Given the description of an element on the screen output the (x, y) to click on. 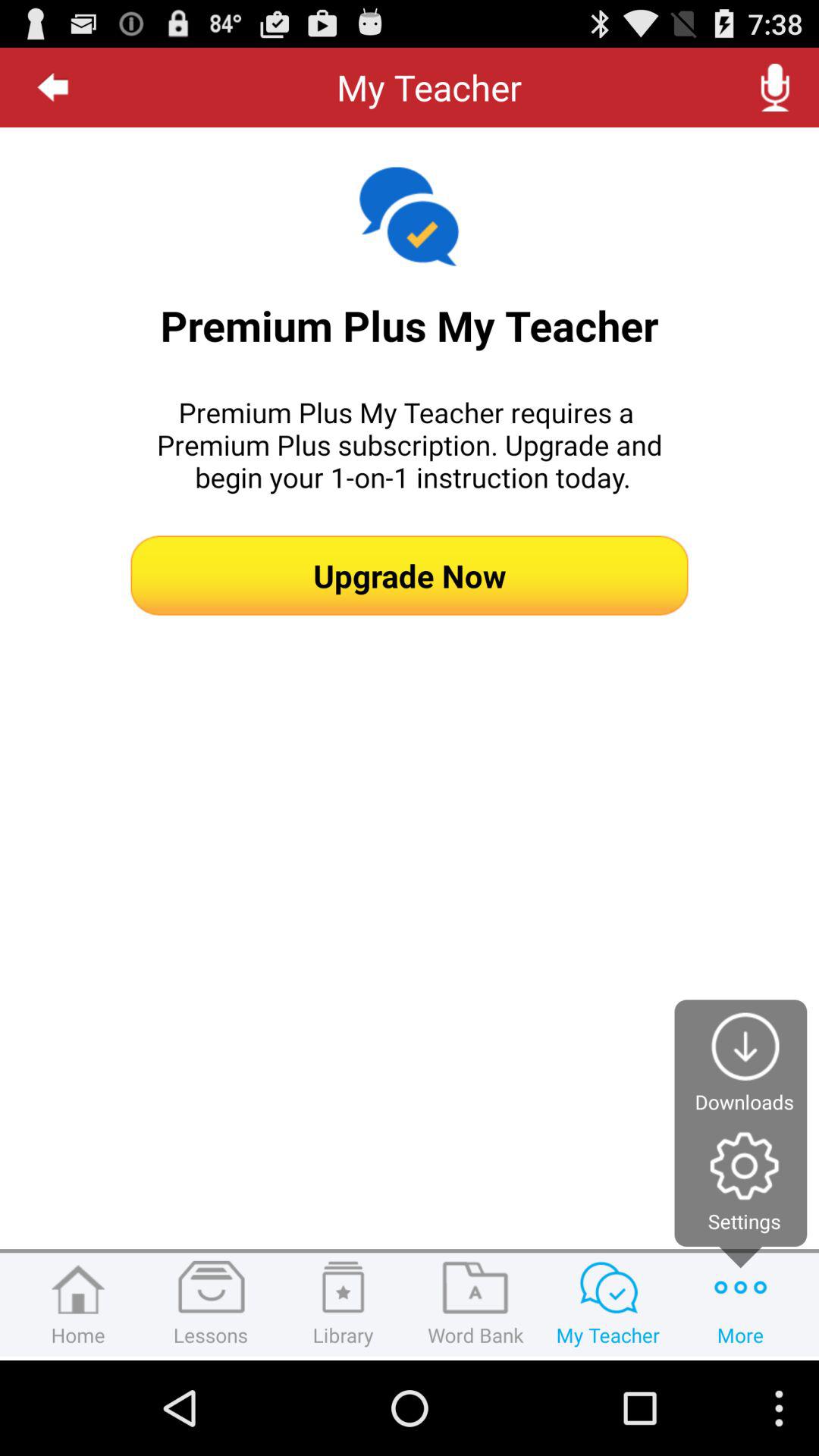
click app to the left of the my teacher app (53, 87)
